Given the description of an element on the screen output the (x, y) to click on. 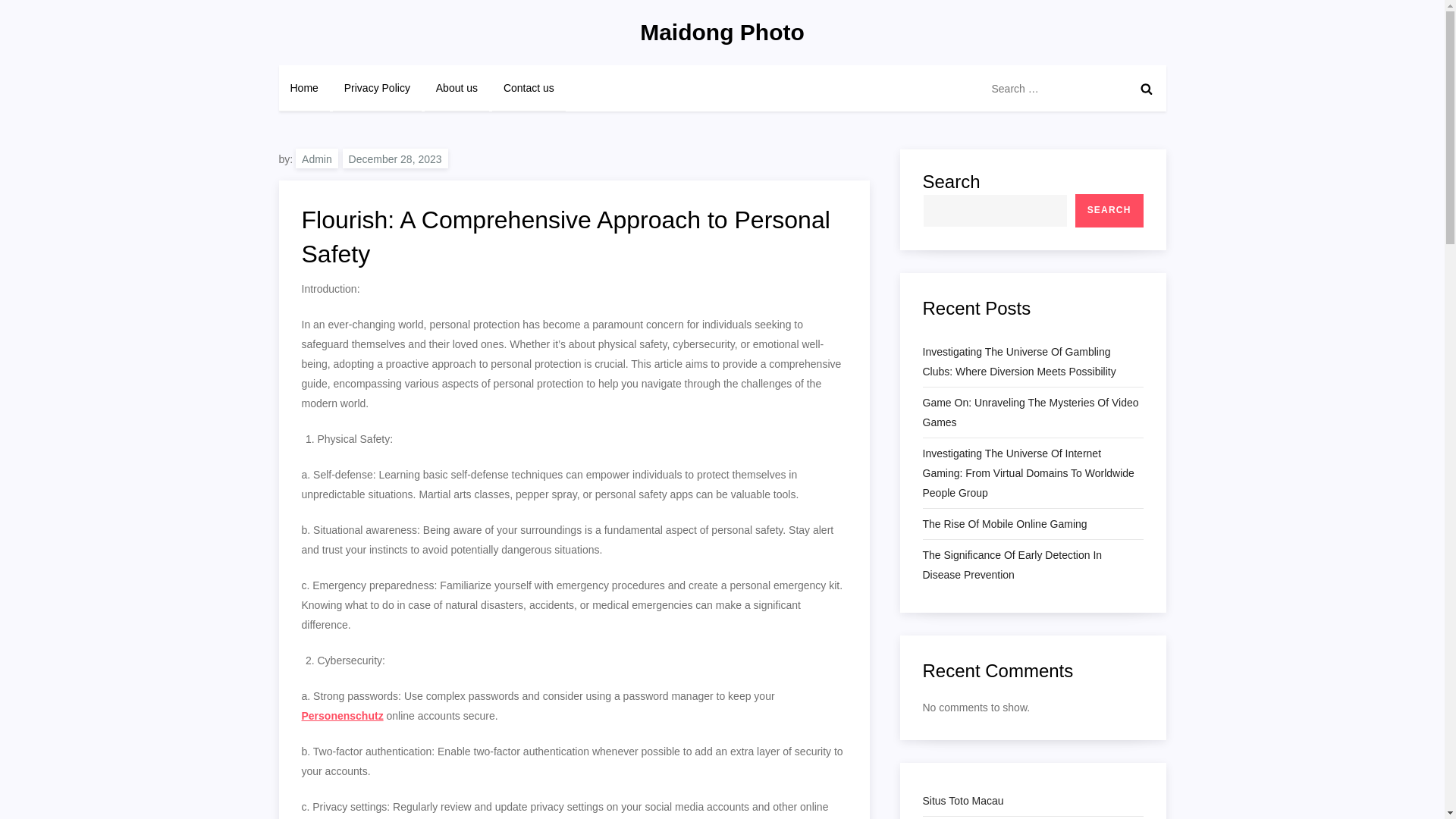
December 28, 2023 (395, 158)
Maidong Photo (722, 32)
Home (304, 87)
The Significance Of Early Detection In Disease Prevention (1031, 564)
The Rise Of Mobile Online Gaming (1003, 523)
Contact us (529, 87)
Personenschutz (342, 715)
Situs Toto Macau (962, 800)
About us (457, 87)
SEARCH (1108, 210)
Privacy Policy (377, 87)
Admin (316, 158)
Game On: Unraveling The Mysteries Of Video Games (1031, 412)
